Given the description of an element on the screen output the (x, y) to click on. 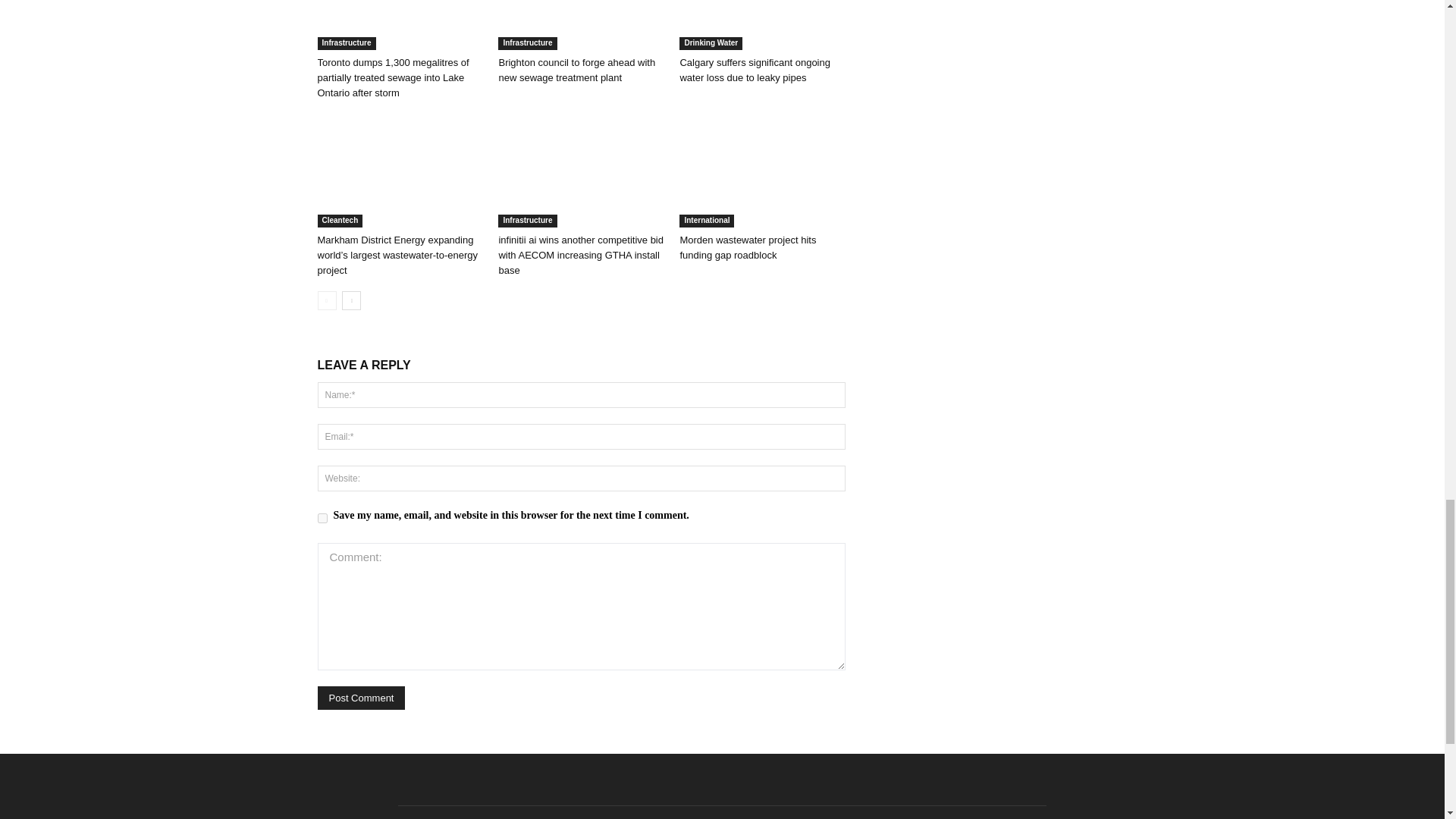
Post Comment (360, 698)
yes (321, 518)
